Given the description of an element on the screen output the (x, y) to click on. 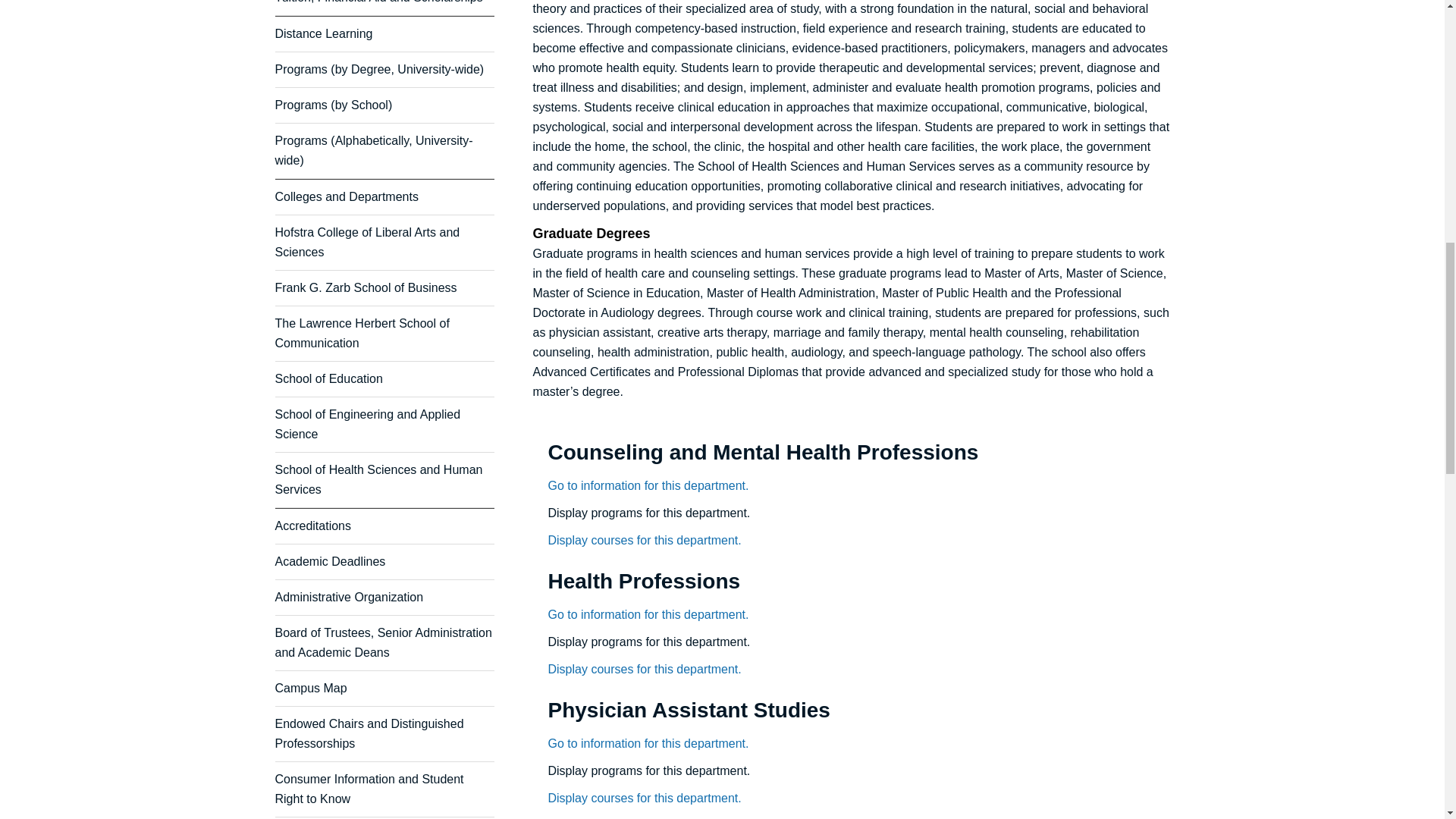
Tuition, Financial Aid and Scholarships (378, 2)
School of Engineering and Applied Science (367, 423)
School of Education (328, 378)
Distance Learning (323, 33)
Frank G. Zarb School of Business (366, 287)
Hofstra College of Liberal Arts and Sciences (367, 242)
Colleges and Departments (346, 196)
The Lawrence Herbert School of Communication (361, 332)
